Given the description of an element on the screen output the (x, y) to click on. 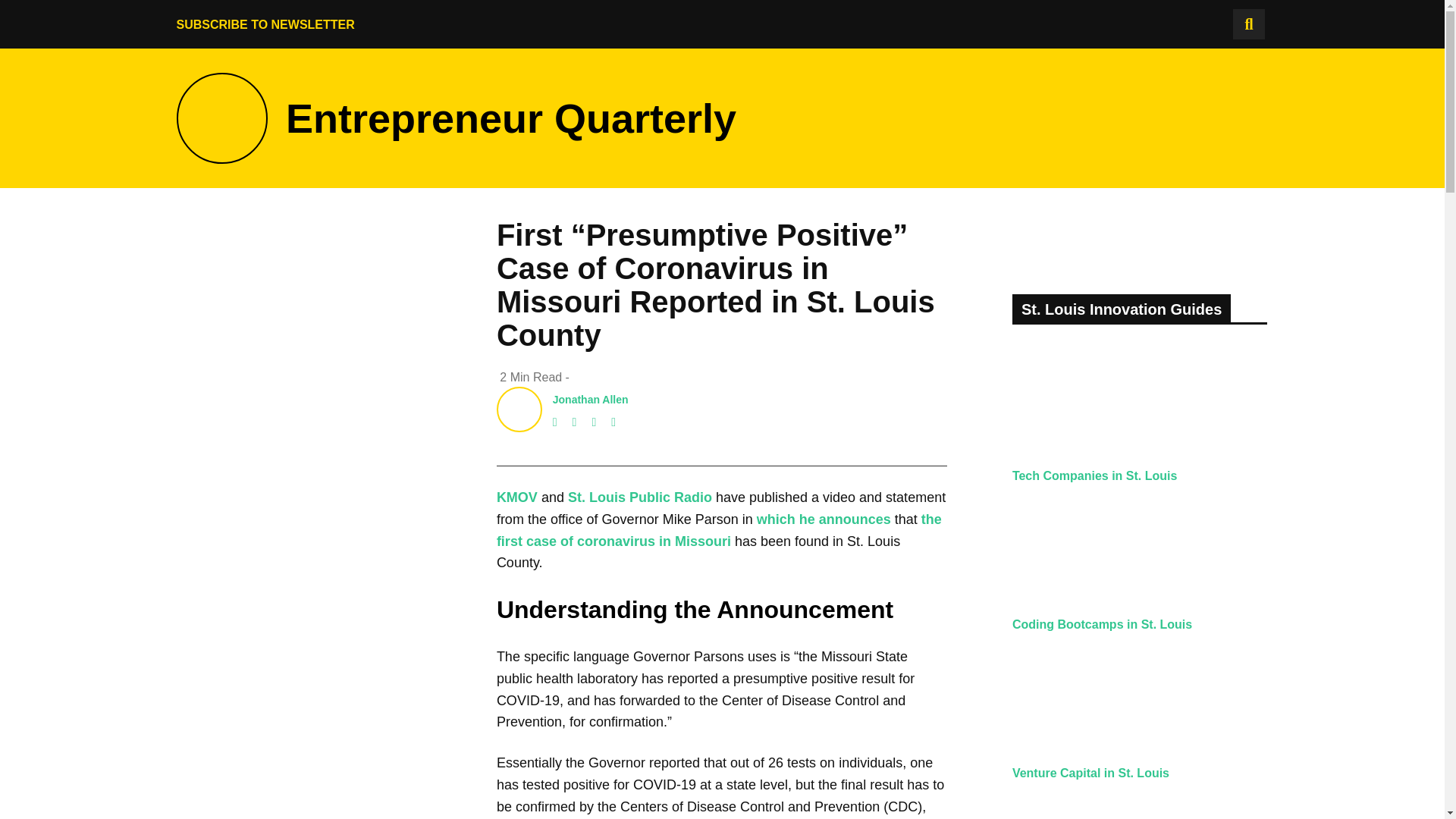
Coding Bootcamps in St. Louis (1101, 624)
Venture Capital in St. Louis (1090, 772)
SUBSCRIBE TO NEWSLETTER (264, 23)
St. Louis Public Radio (639, 497)
which he announces (824, 519)
Tech Companies in St. Louis (1094, 475)
Jonathan Allen (590, 399)
the first case of coronavirus in Missouri (719, 529)
KMOV (516, 497)
